Given the description of an element on the screen output the (x, y) to click on. 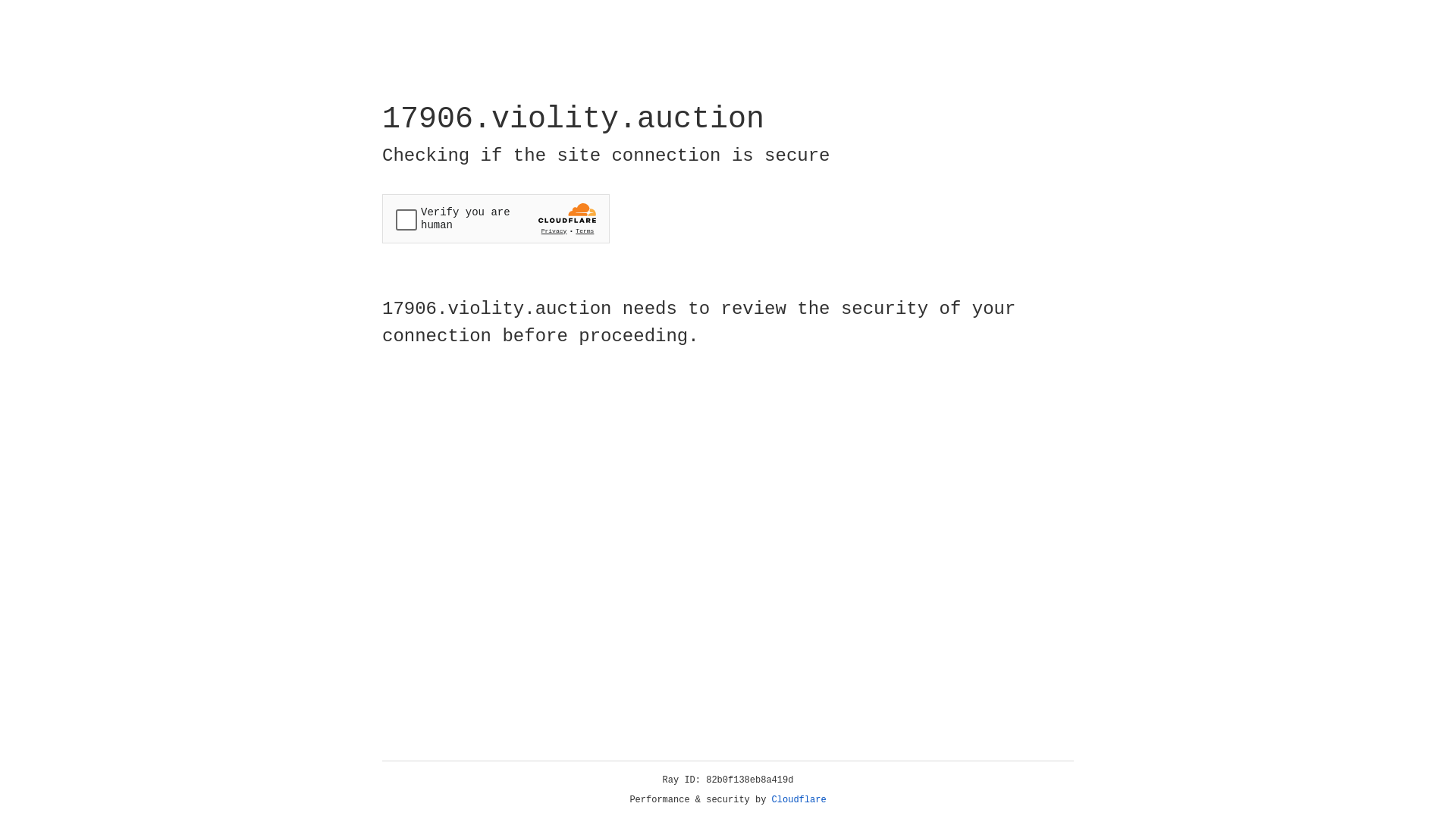
Cloudflare Element type: text (798, 799)
Widget containing a Cloudflare security challenge Element type: hover (495, 218)
